Given the description of an element on the screen output the (x, y) to click on. 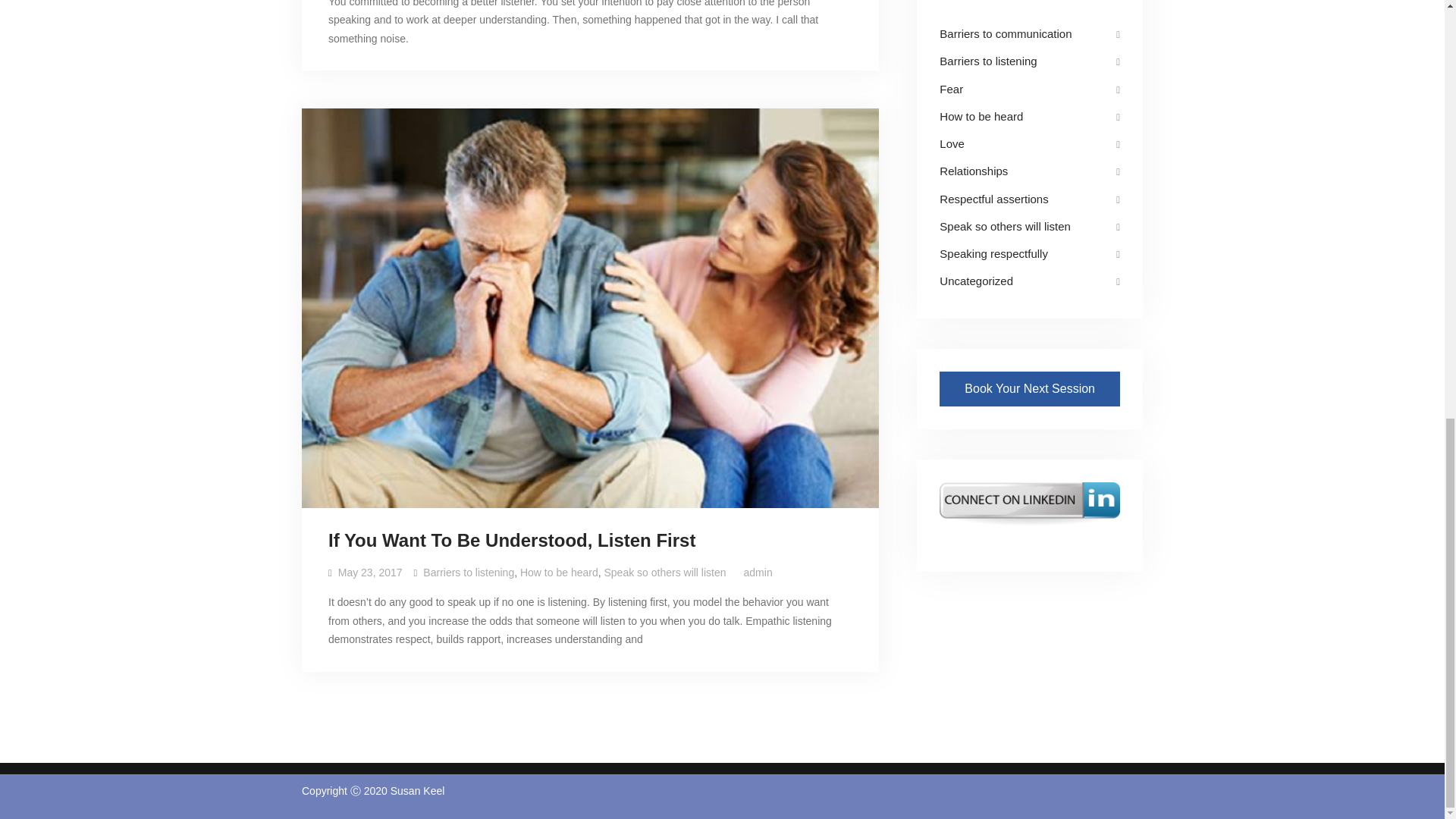
If You Want To Be Understood, Listen First (512, 540)
Love (951, 143)
Fear (950, 88)
Respectful assertions (993, 198)
Relationships (973, 170)
Speak so others will listen (664, 572)
Speak so others will listen (1004, 226)
Uncategorized (976, 280)
Barriers to listening (987, 60)
Barriers to communication (1005, 33)
How to be heard (981, 115)
Barriers to listening (468, 572)
Speaking respectfully (993, 253)
How to be heard (558, 572)
Book Your Next Session (1029, 388)
